Given the description of an element on the screen output the (x, y) to click on. 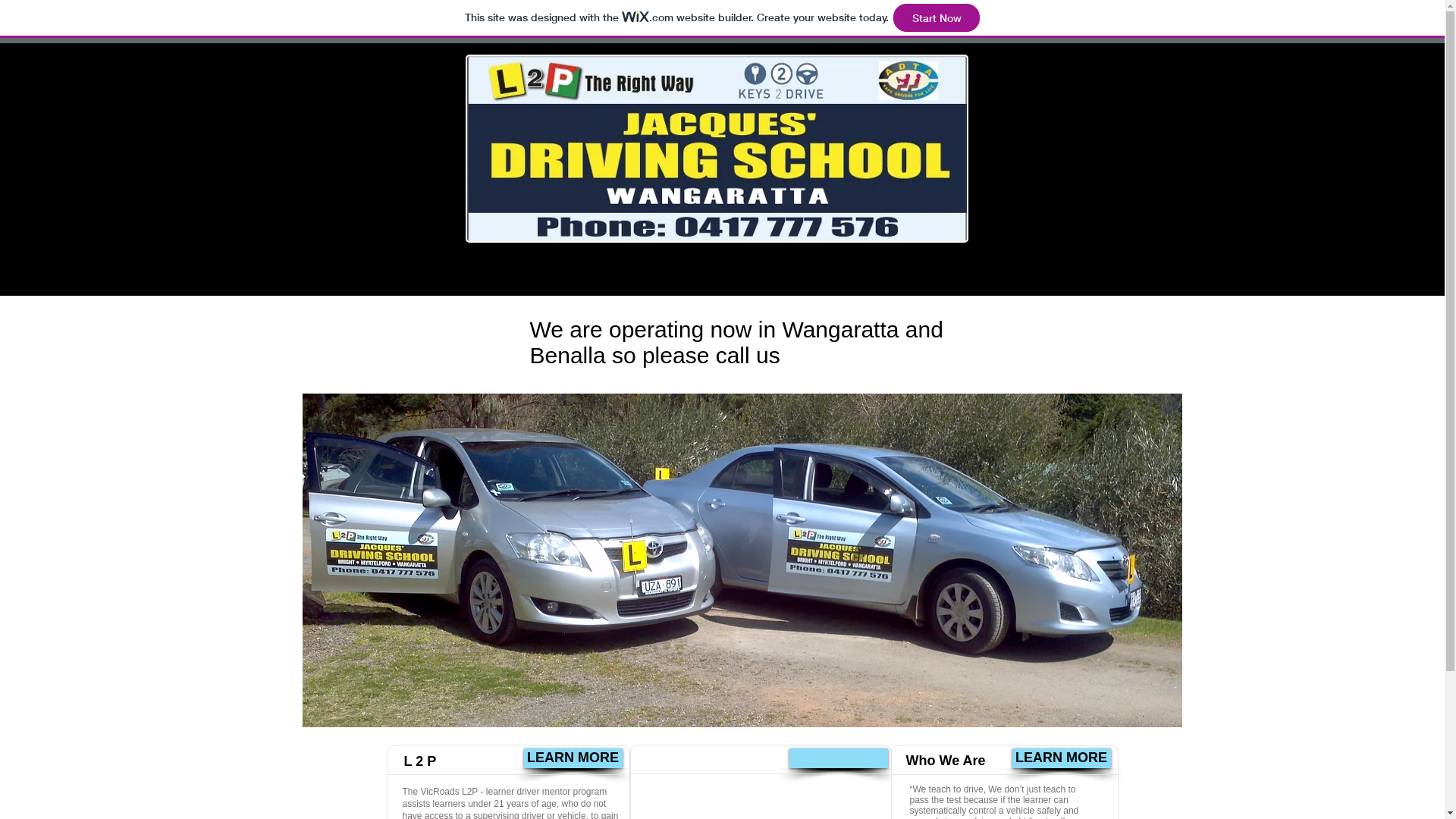
LEARN MORE Element type: text (1060, 758)
LEARN MORE Element type: text (572, 758)
